Given the description of an element on the screen output the (x, y) to click on. 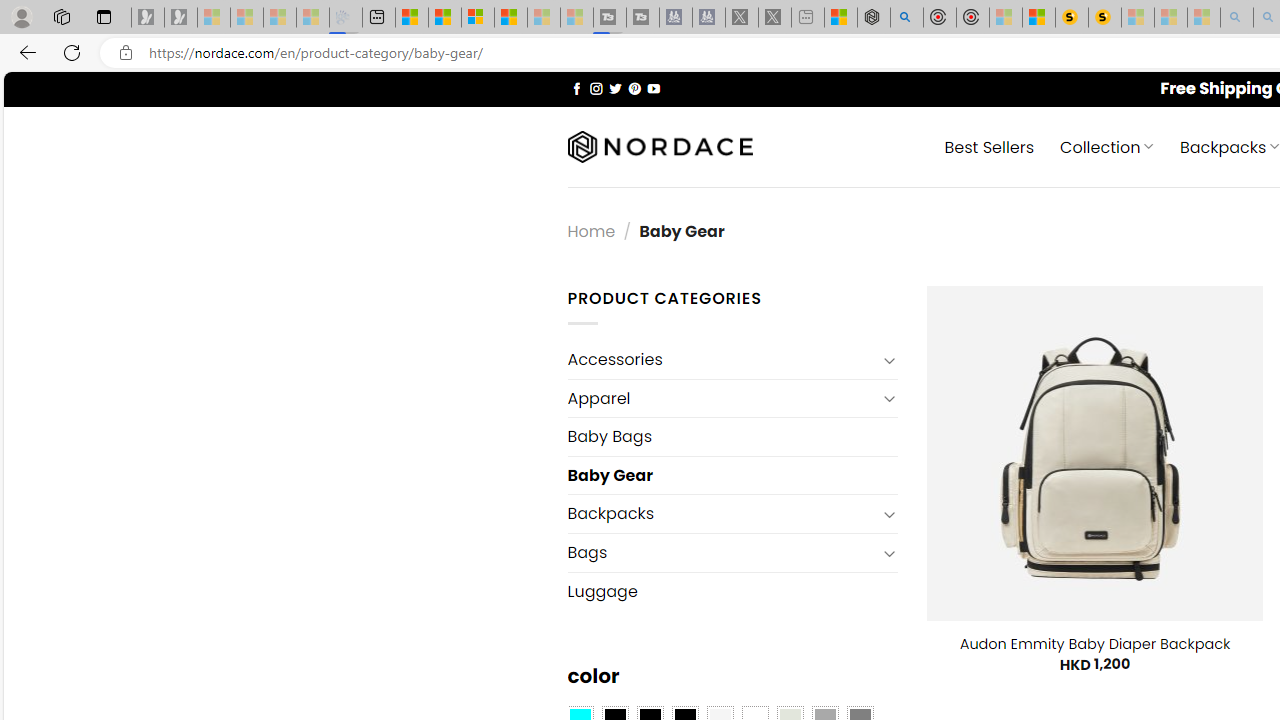
Bags (721, 552)
Backpacks (721, 514)
Newsletter Sign Up - Sleeping (181, 17)
Follow on Twitter (615, 88)
Baby Bags (732, 435)
